Given the description of an element on the screen output the (x, y) to click on. 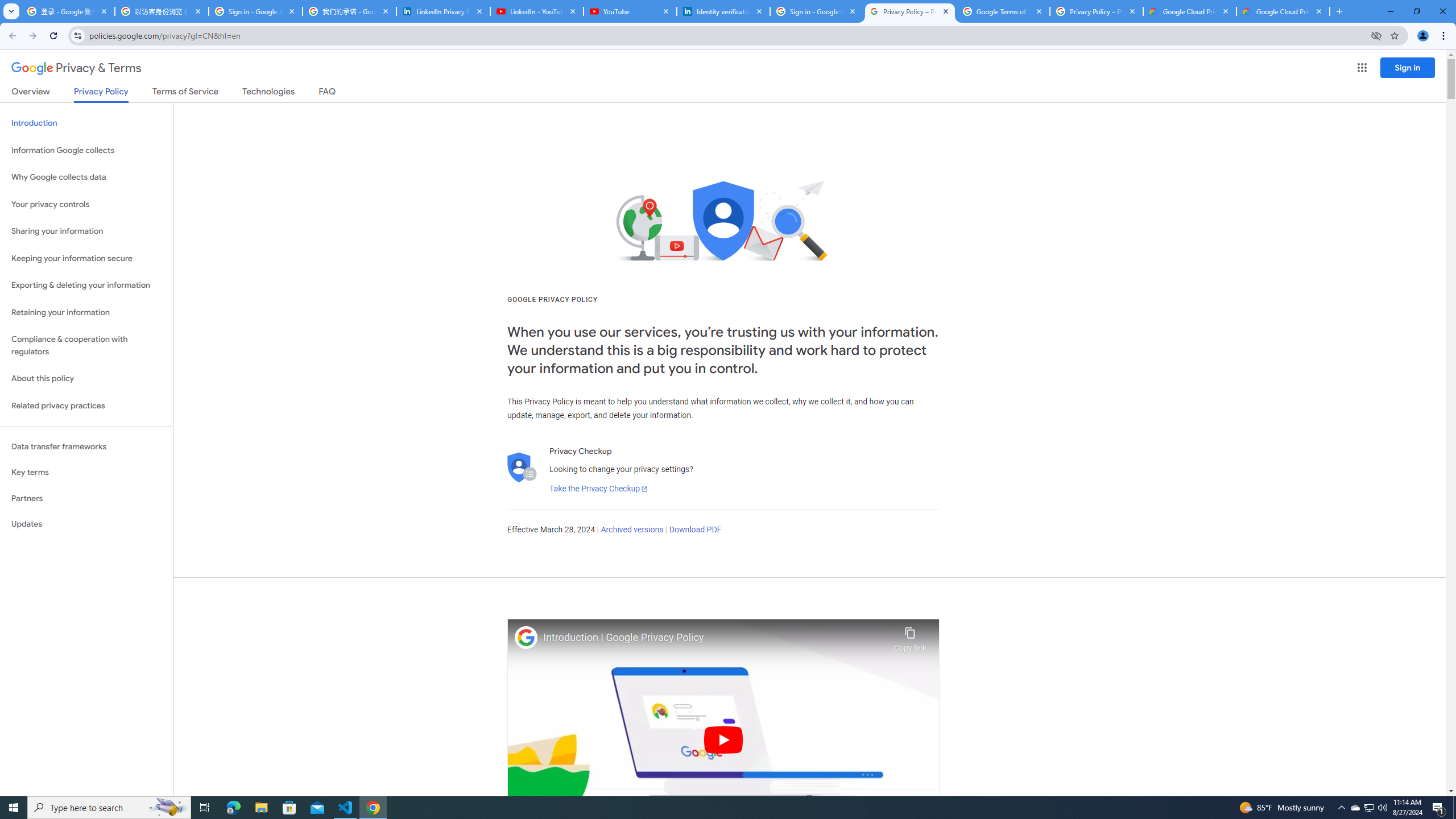
Compliance & cooperation with regulators (86, 345)
Take the Privacy Checkup (597, 488)
Introduction | Google Privacy Policy (715, 637)
Google Cloud Privacy Notice (1189, 11)
Download PDF (695, 529)
